Given the description of an element on the screen output the (x, y) to click on. 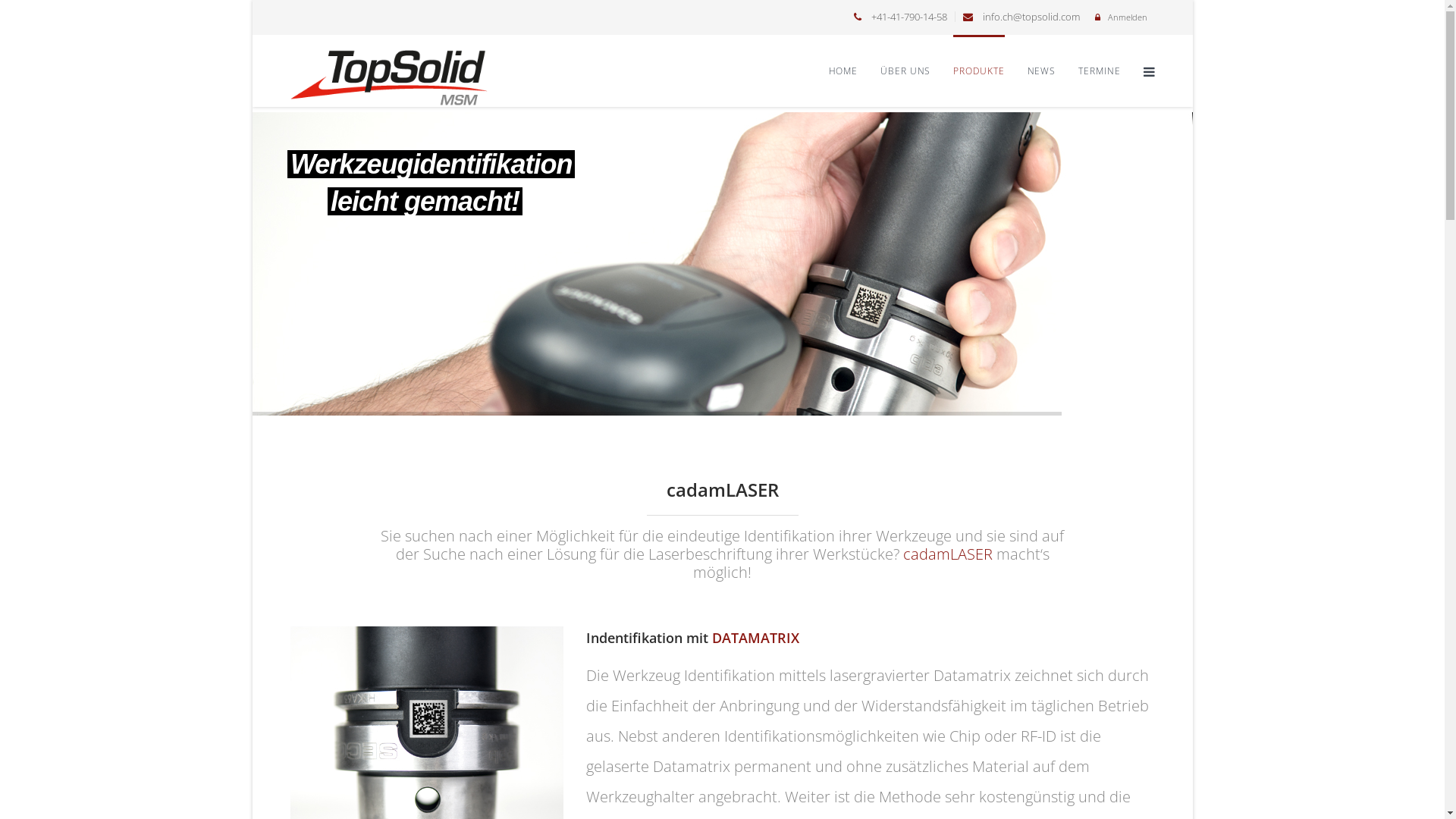
TERMINE Element type: text (1099, 70)
HOME Element type: text (843, 70)
Anmelden Element type: text (1126, 16)
info.ch@topsolid.com Element type: text (1030, 16)
PRODUKTE Element type: text (978, 70)
+41-41-790-14-58 Element type: text (908, 16)
NEWS Element type: text (1041, 70)
